Given the description of an element on the screen output the (x, y) to click on. 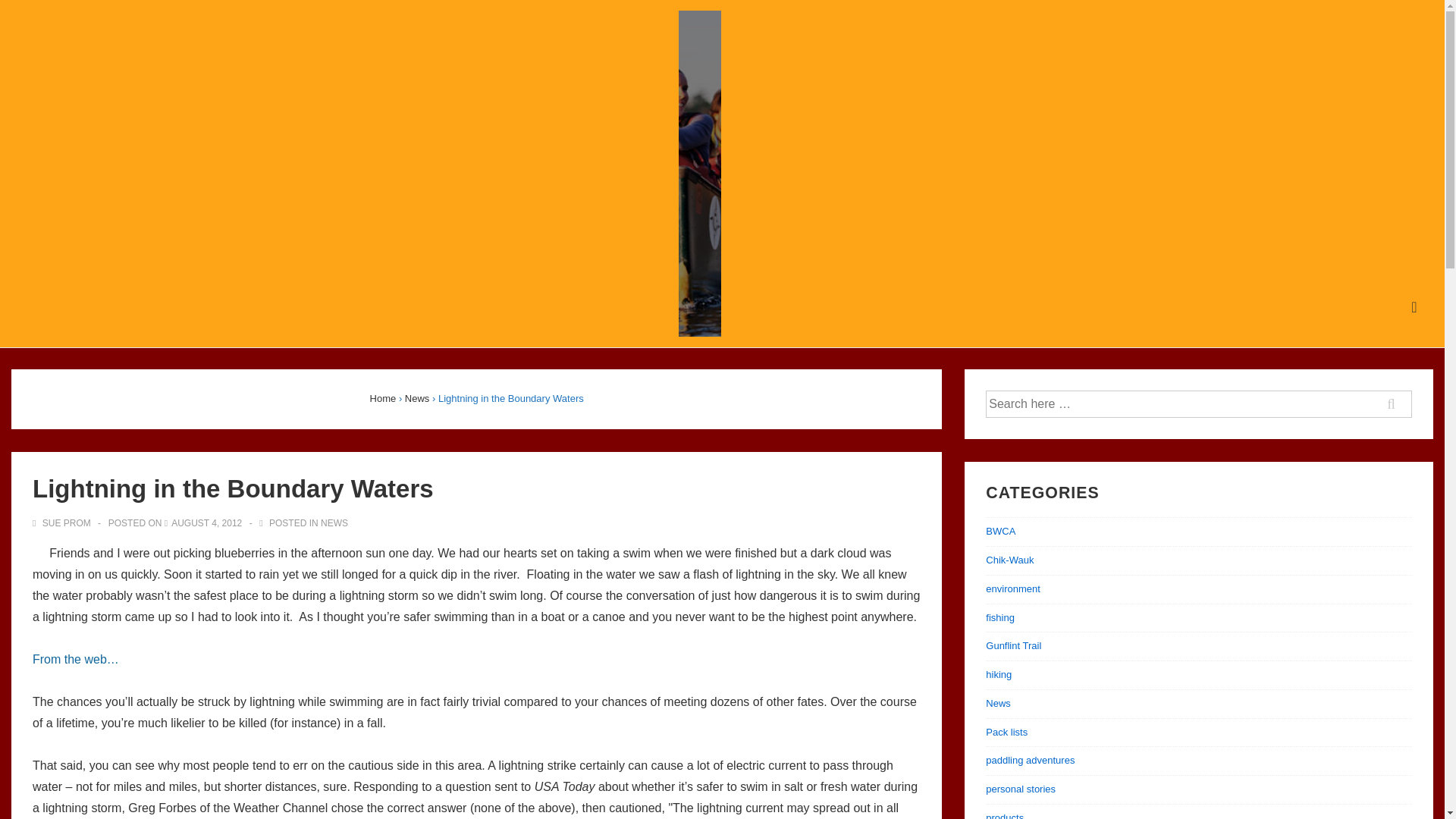
products (1004, 815)
paddling adventures (1029, 759)
NEWS (333, 522)
MENU (1414, 307)
BWCA (999, 531)
Pack lists (1006, 731)
hiking (998, 674)
View all posts by Sue Prom (62, 522)
personal stories (1020, 788)
Home (382, 398)
News (416, 398)
Chik-Wauk (1009, 559)
fishing (999, 617)
AUGUST 4, 2012 (206, 522)
News (997, 703)
